Given the description of an element on the screen output the (x, y) to click on. 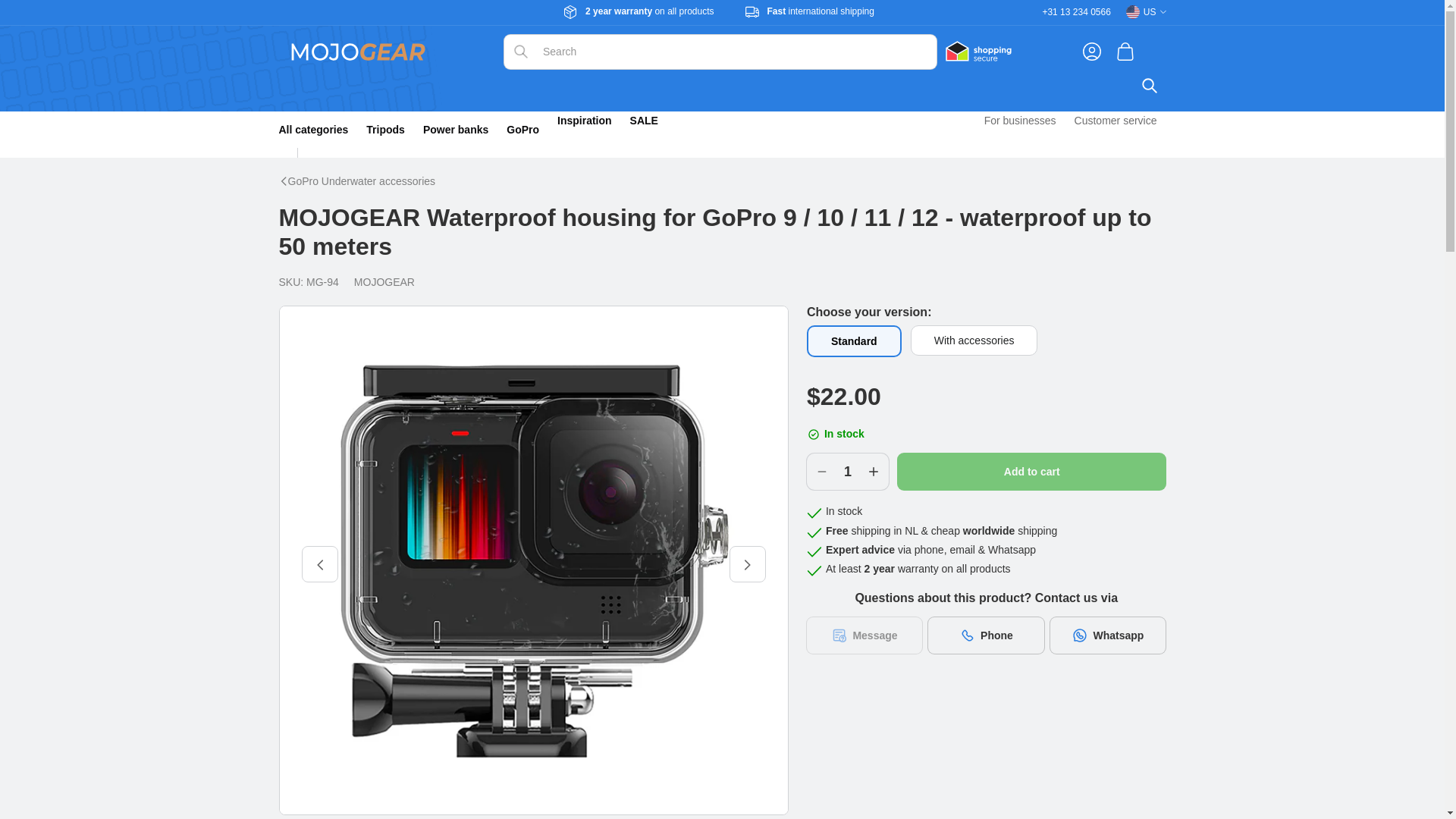
US (1145, 11)
Fast international shipping (821, 10)
2 year warranty on all products (649, 12)
Skip to content (45, 18)
